Given the description of an element on the screen output the (x, y) to click on. 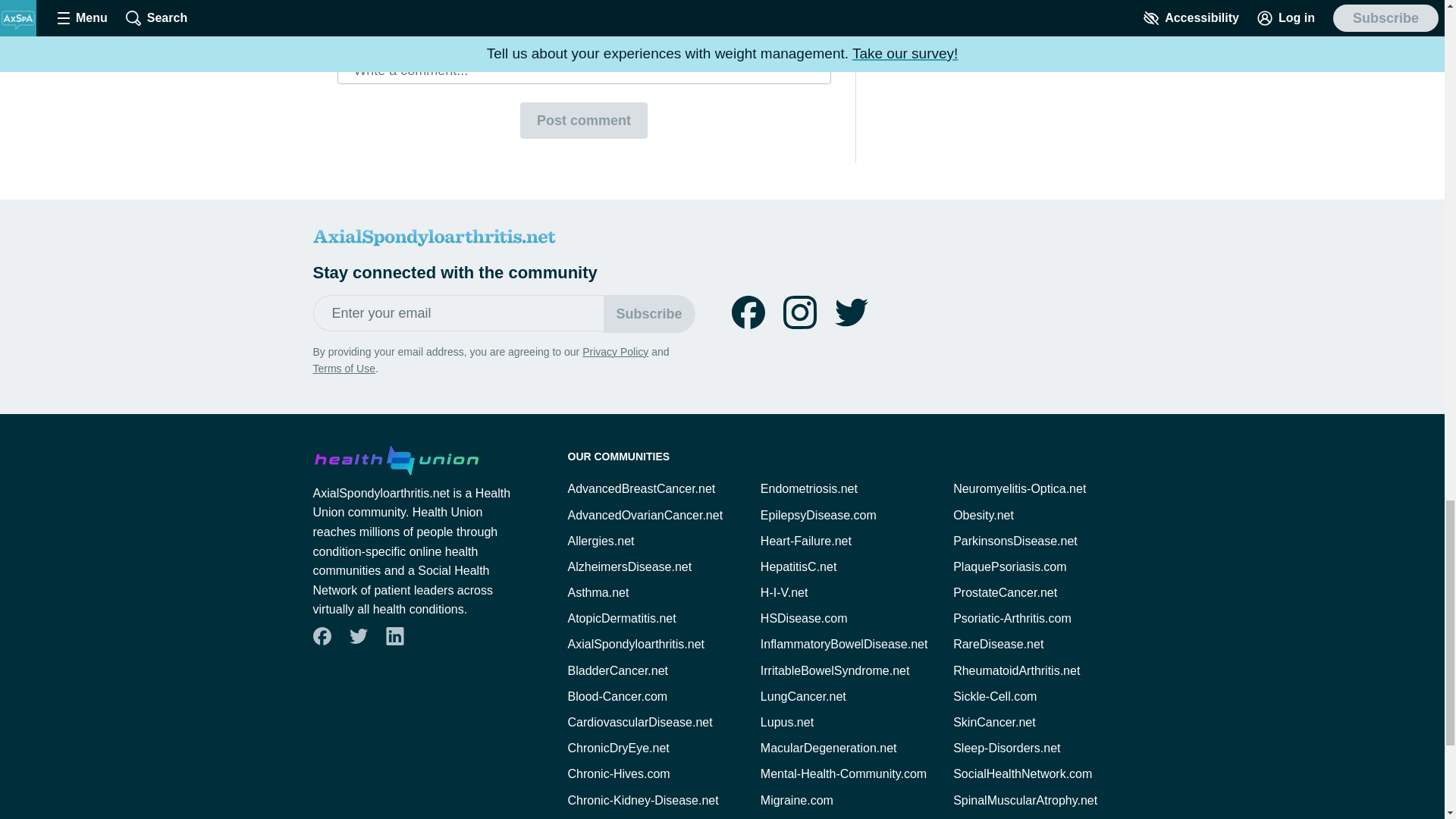
Follow us on twitter (357, 635)
Follow us on facebook (321, 636)
Follow us on twitter (850, 312)
Post comment (583, 120)
read our rules (541, 1)
Terms of Use (343, 368)
Follow us on twitter (850, 312)
Subscribe (649, 313)
Privacy Policy (614, 351)
Follow us on facebook (747, 312)
Follow us on instagram (799, 312)
Follow us on facebook (320, 635)
caret icon (639, 27)
Follow us on facebook (747, 312)
 Write a comment...  (583, 70)
